Given the description of an element on the screen output the (x, y) to click on. 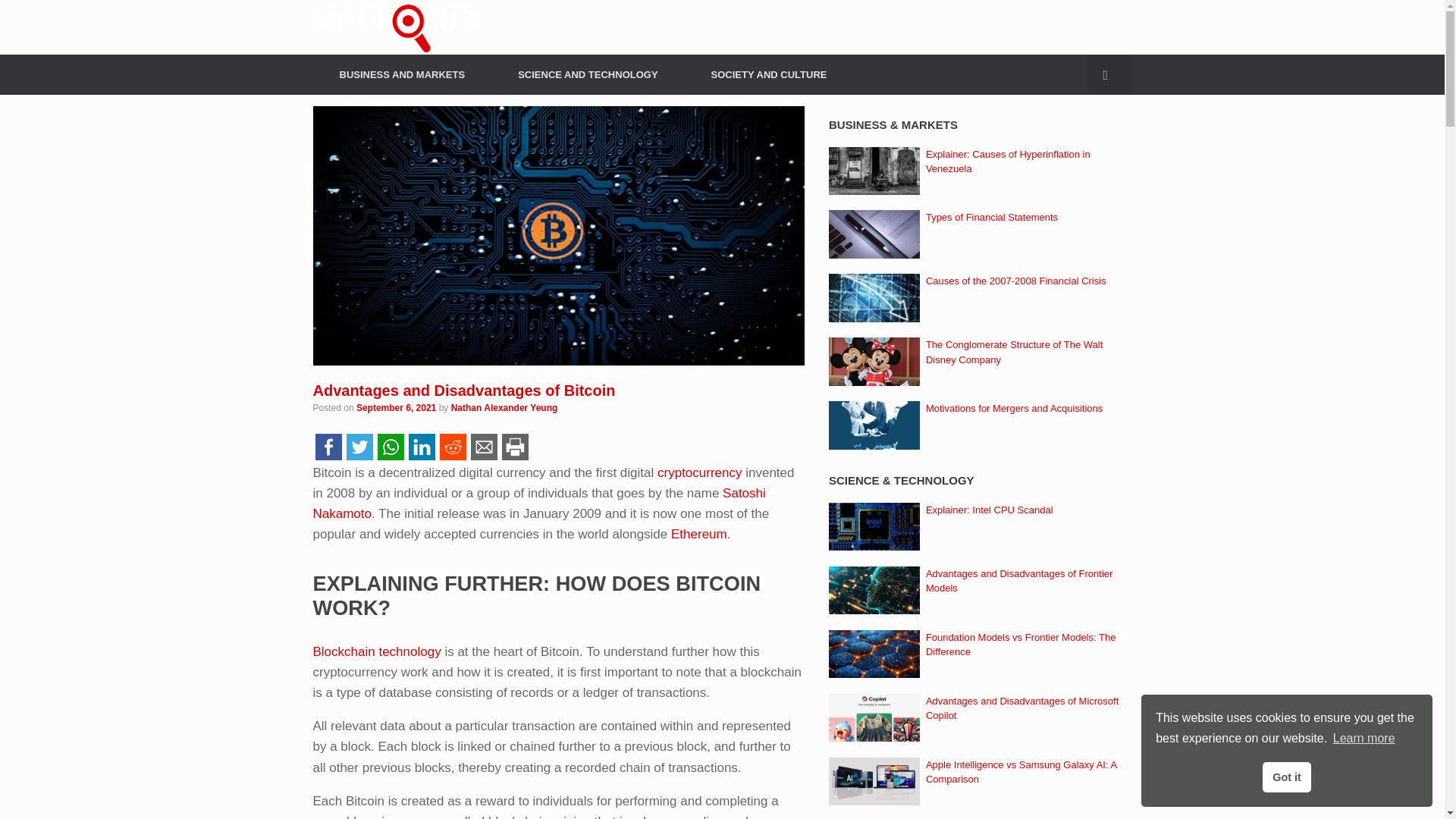
Satoshi Nakamoto (539, 503)
Ethereum (698, 534)
BUSINESS AND MARKETS (402, 74)
SOCIETY AND CULTURE (768, 74)
View all posts by Nathan Alexander Yeung (504, 407)
Nathan Alexander Yeung (504, 407)
September 6, 2021 (395, 407)
2:29 pm (395, 407)
facebook (328, 445)
linkedin (422, 445)
twitter (359, 445)
Blockchain technology (377, 651)
reddit (451, 445)
cryptocurrency (699, 472)
print (514, 445)
